Given the description of an element on the screen output the (x, y) to click on. 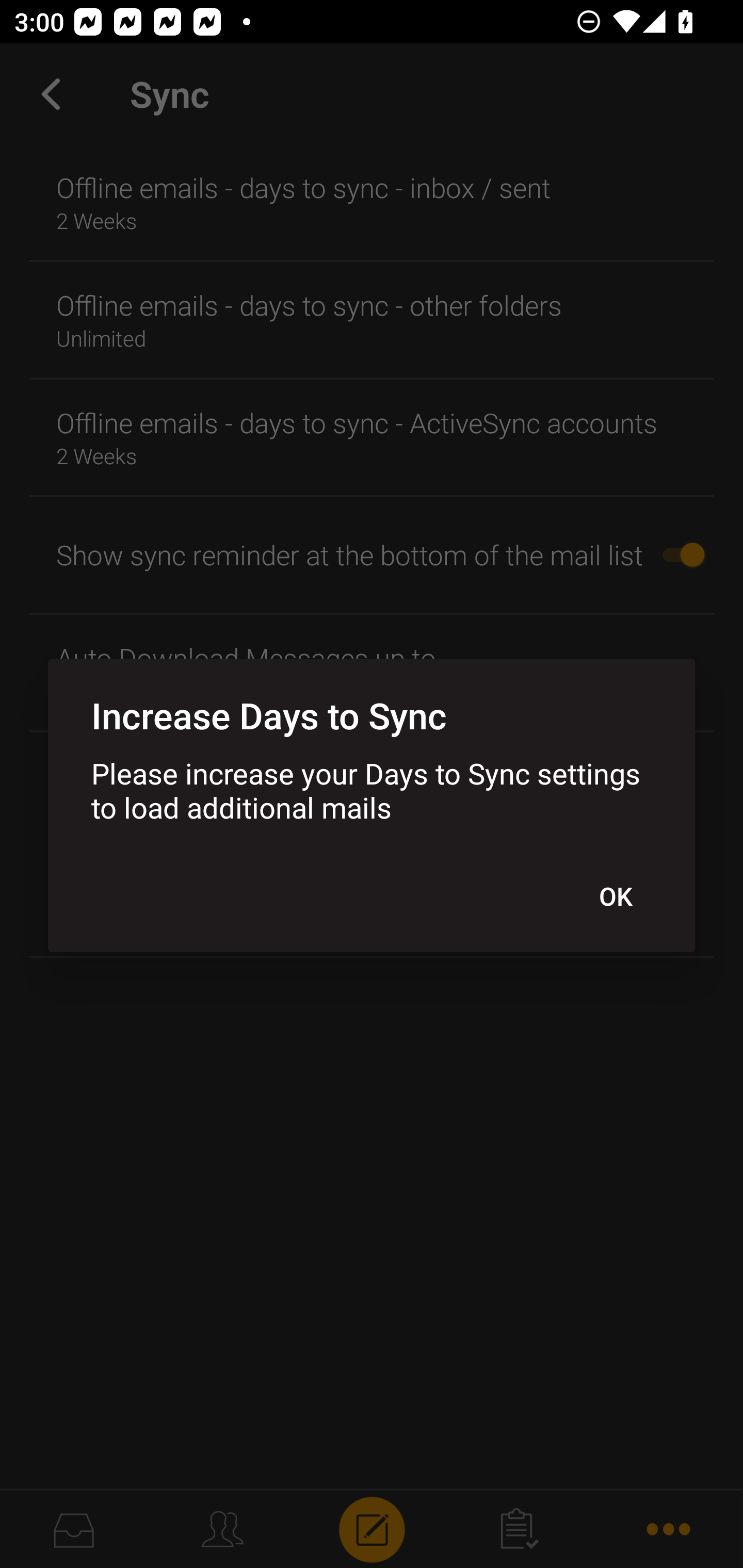
OK (615, 895)
